Given the description of an element on the screen output the (x, y) to click on. 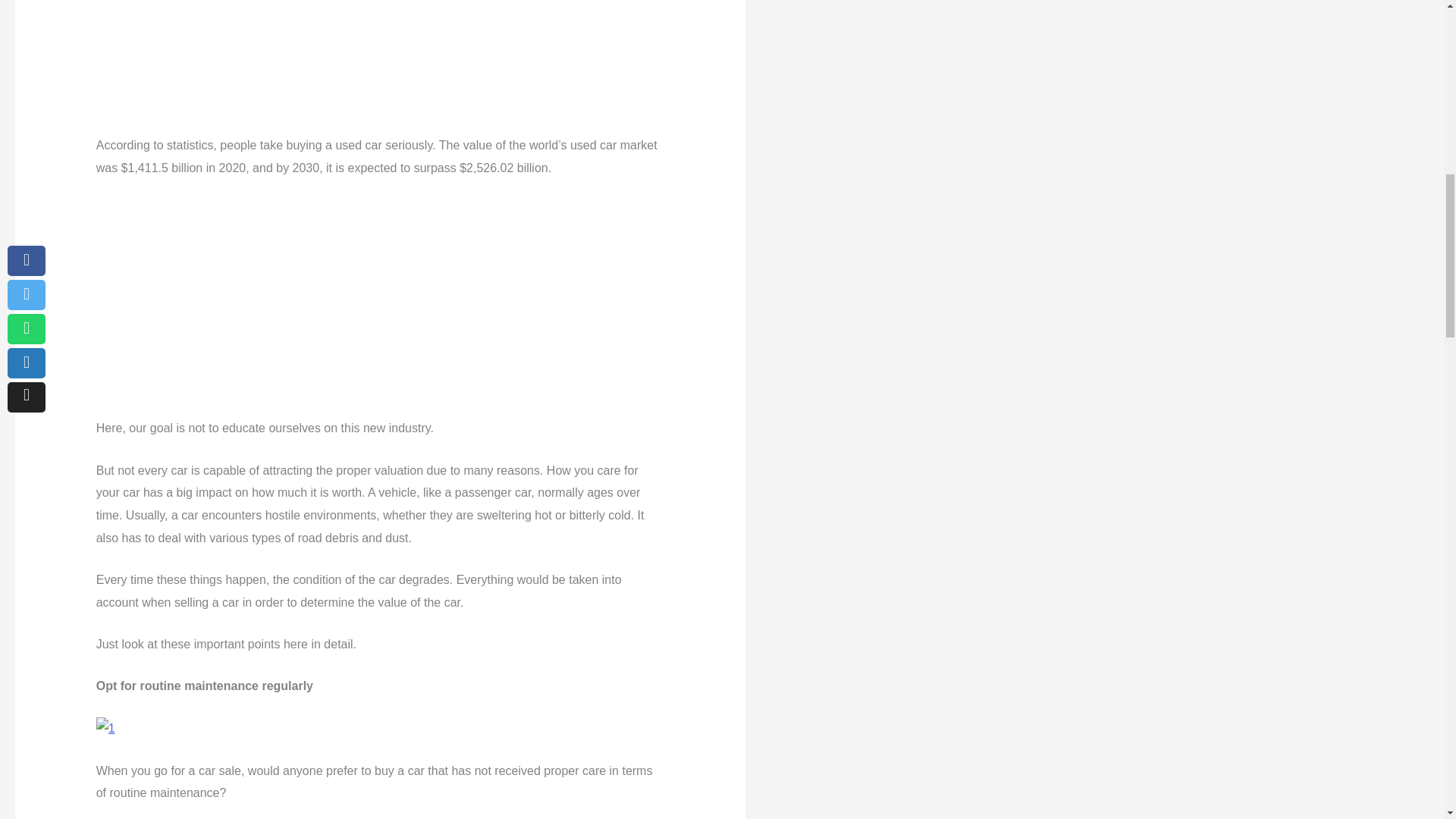
Advertisement (380, 305)
Advertisement (380, 63)
